Given the description of an element on the screen output the (x, y) to click on. 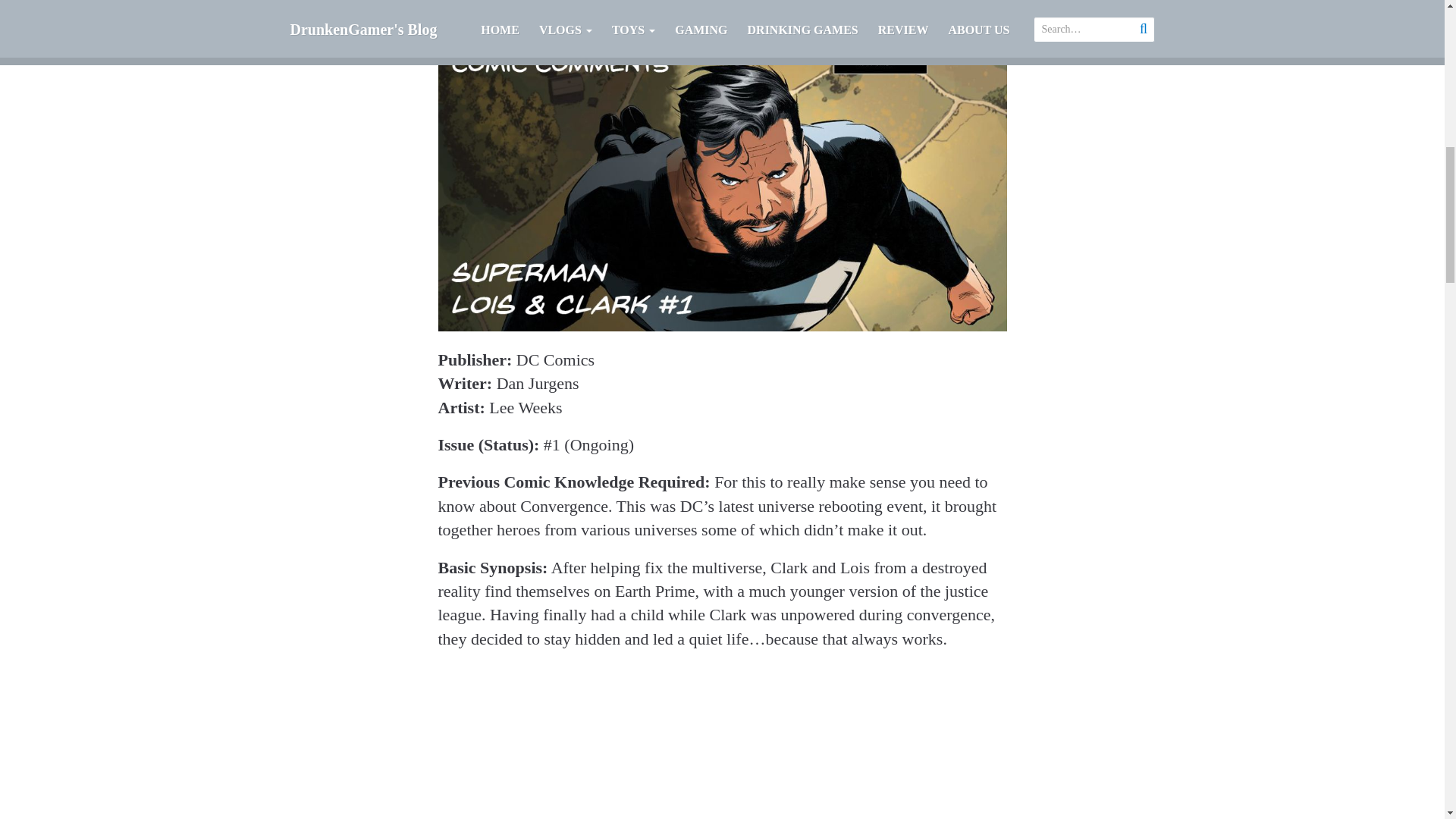
Advertisement (722, 741)
